Given the description of an element on the screen output the (x, y) to click on. 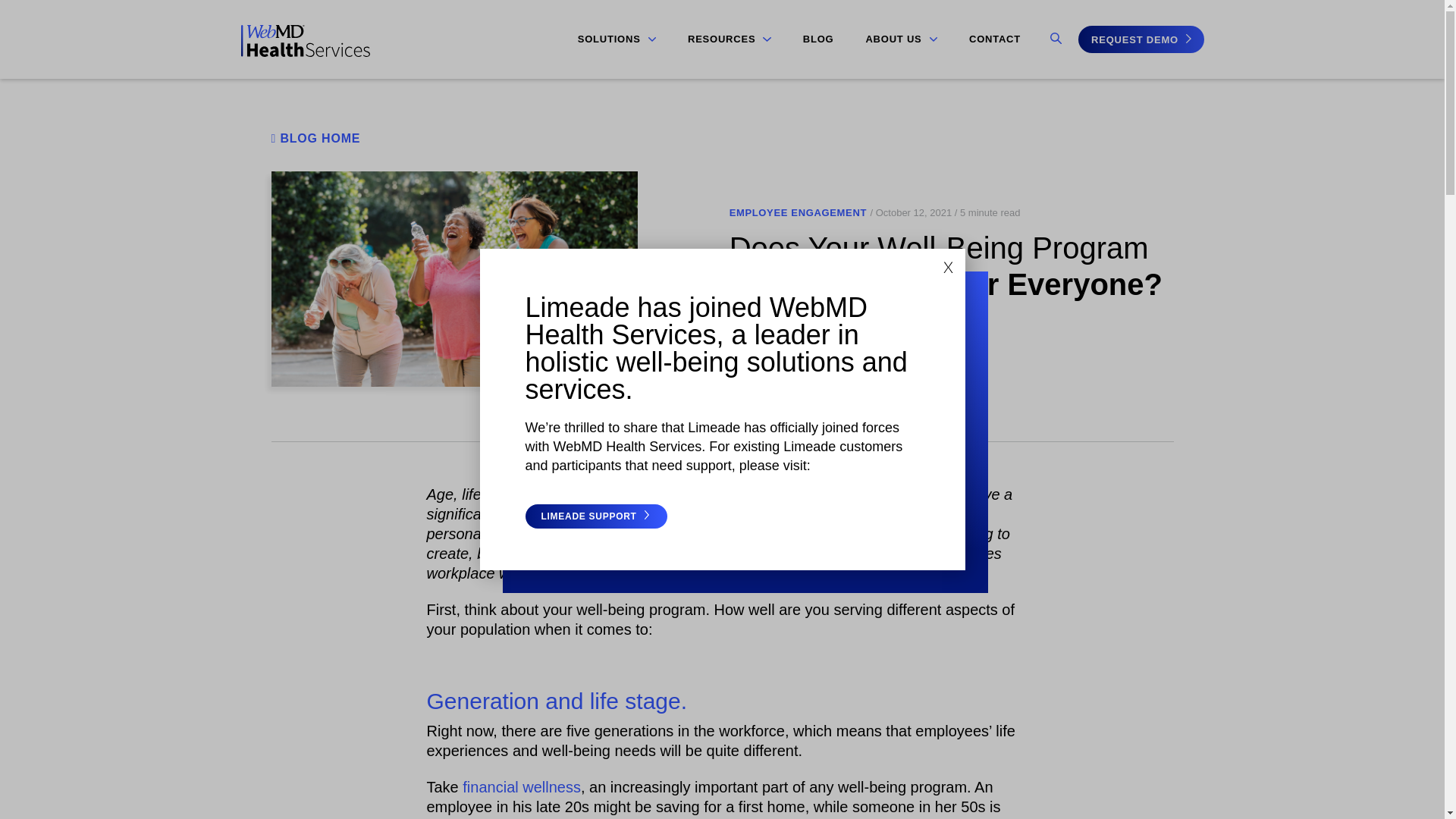
CONTACT (994, 39)
WebMD Health Services (305, 51)
RESOURCES (729, 39)
REQUEST DEMO (1141, 39)
EMPLOYEE ENGAGEMENT (797, 213)
Christine Muldoon (796, 319)
SOLUTIONS (616, 39)
financial wellness (521, 787)
BLOG HOME (315, 138)
ABOUT US (900, 39)
Posts by Christine Muldoon (796, 319)
